Given the description of an element on the screen output the (x, y) to click on. 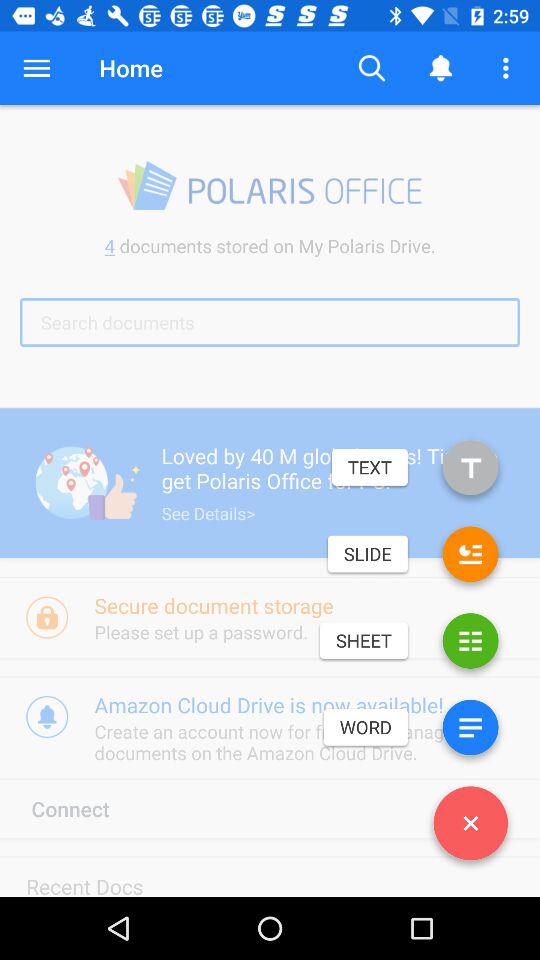
create text document (470, 471)
